Given the description of an element on the screen output the (x, y) to click on. 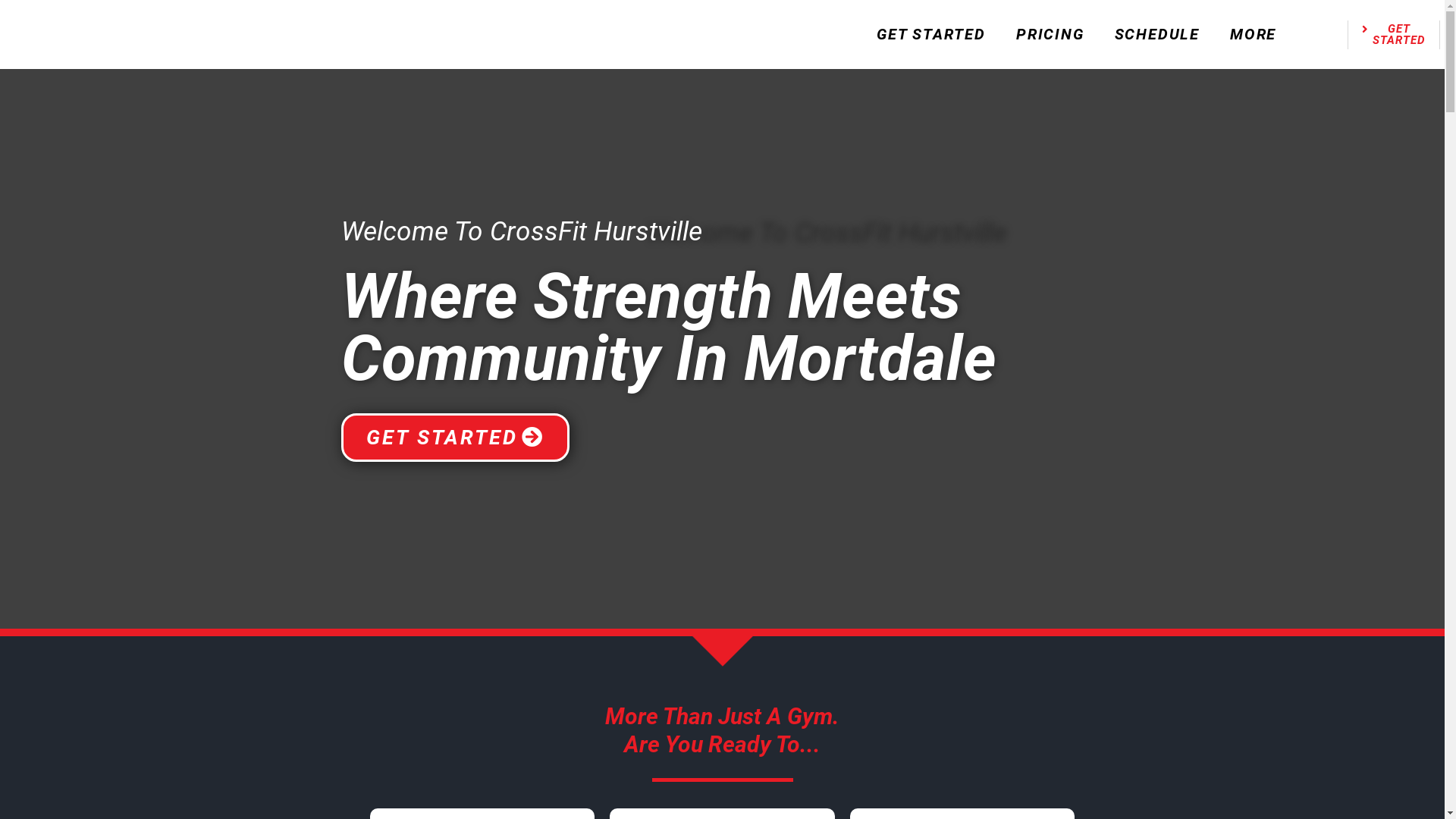
download (6) Element type: hover (179, 34)
GET STARTED Element type: text (455, 437)
MORE Element type: text (1252, 34)
SCHEDULE Element type: text (1156, 34)
GET
STARTED Element type: text (1393, 34)
GET STARTED Element type: text (931, 34)
PRICING Element type: text (1050, 34)
